Given the description of an element on the screen output the (x, y) to click on. 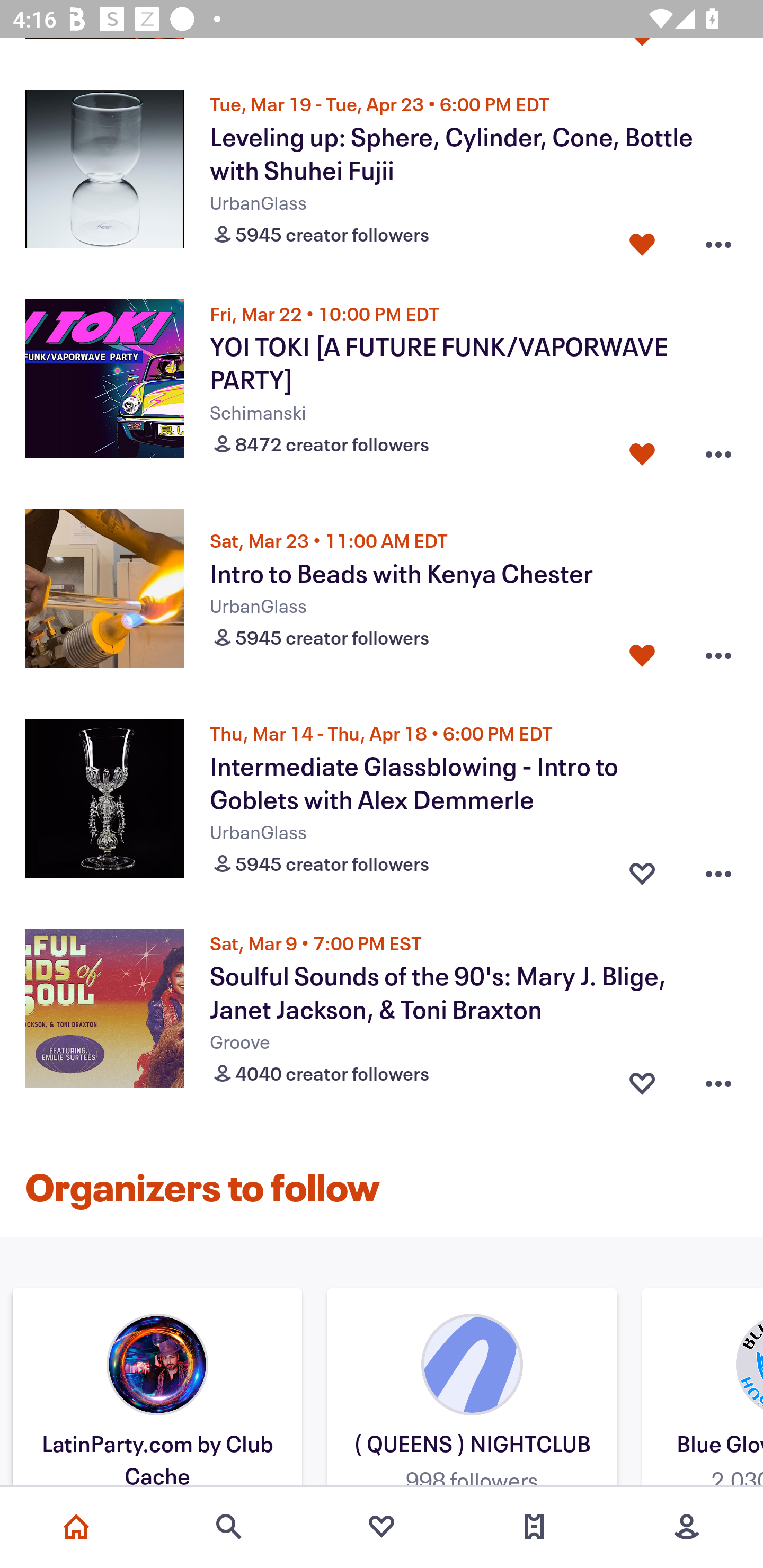
Favorite button (642, 240)
Overflow menu button (718, 240)
Favorite button (642, 449)
Overflow menu button (718, 449)
Favorite button (642, 655)
Overflow menu button (718, 655)
Favorite button (642, 869)
Overflow menu button (718, 869)
Favorite button (642, 1079)
Overflow menu button (718, 1079)
Organizer's image LatinParty.com by Club Cache (157, 1389)
Home (76, 1526)
Search events (228, 1526)
Favorites (381, 1526)
Tickets (533, 1526)
More (686, 1526)
